Given the description of an element on the screen output the (x, y) to click on. 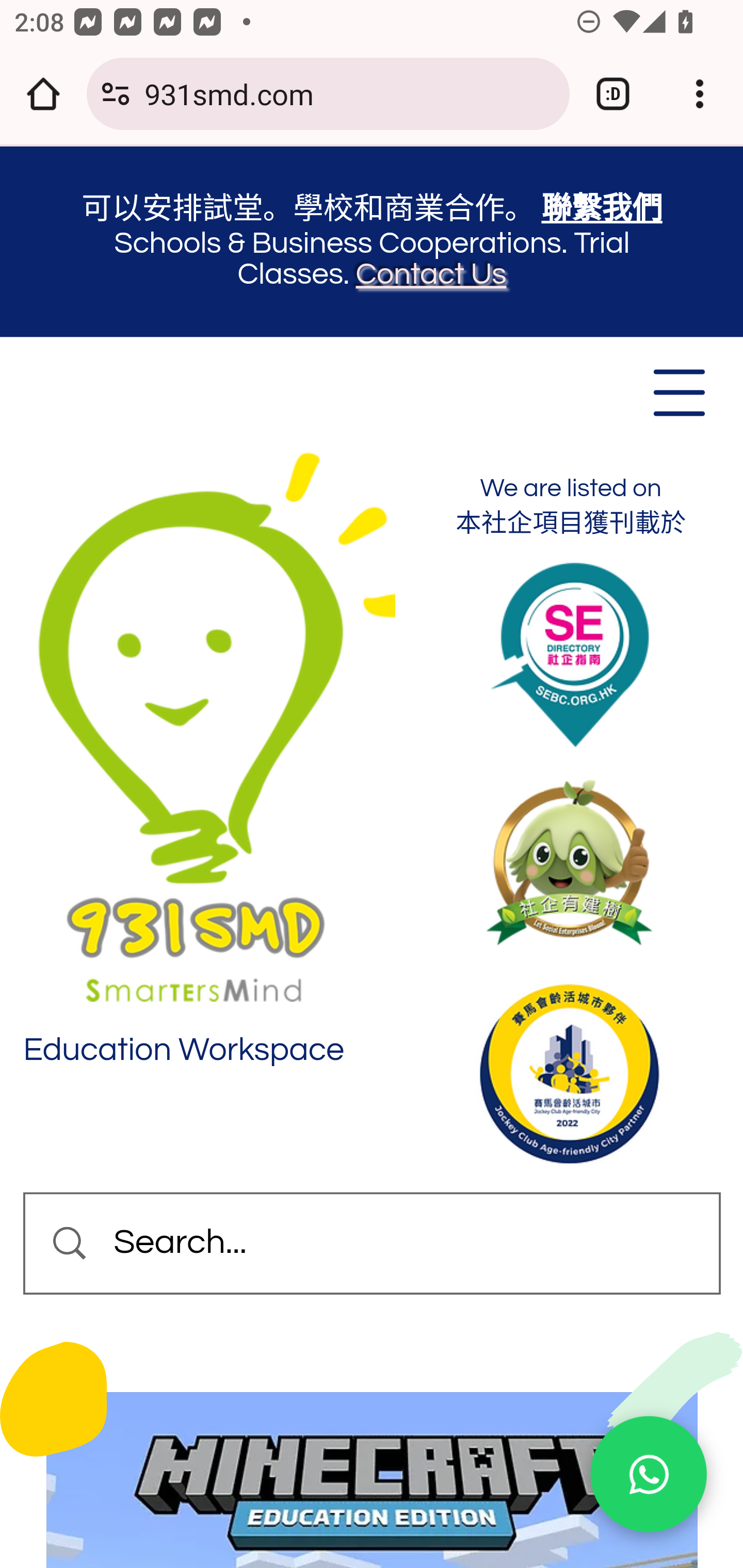
Open the home page (43, 93)
Connection is secure (115, 93)
Switch or close tabs (612, 93)
Customize and control Google Chrome (699, 93)
931smd.com (349, 92)
聯繫我們 (601, 208)
Contact Us (430, 273)
Open navigation menu (678, 391)
SMD Logo transparent.png (209, 724)
SE Directory Logo Final_RGB.png (569, 654)
Social Enterprise Logo.png (569, 862)
Education Workspace (184, 1050)
WhatsApp (647, 1474)
